Given the description of an element on the screen output the (x, y) to click on. 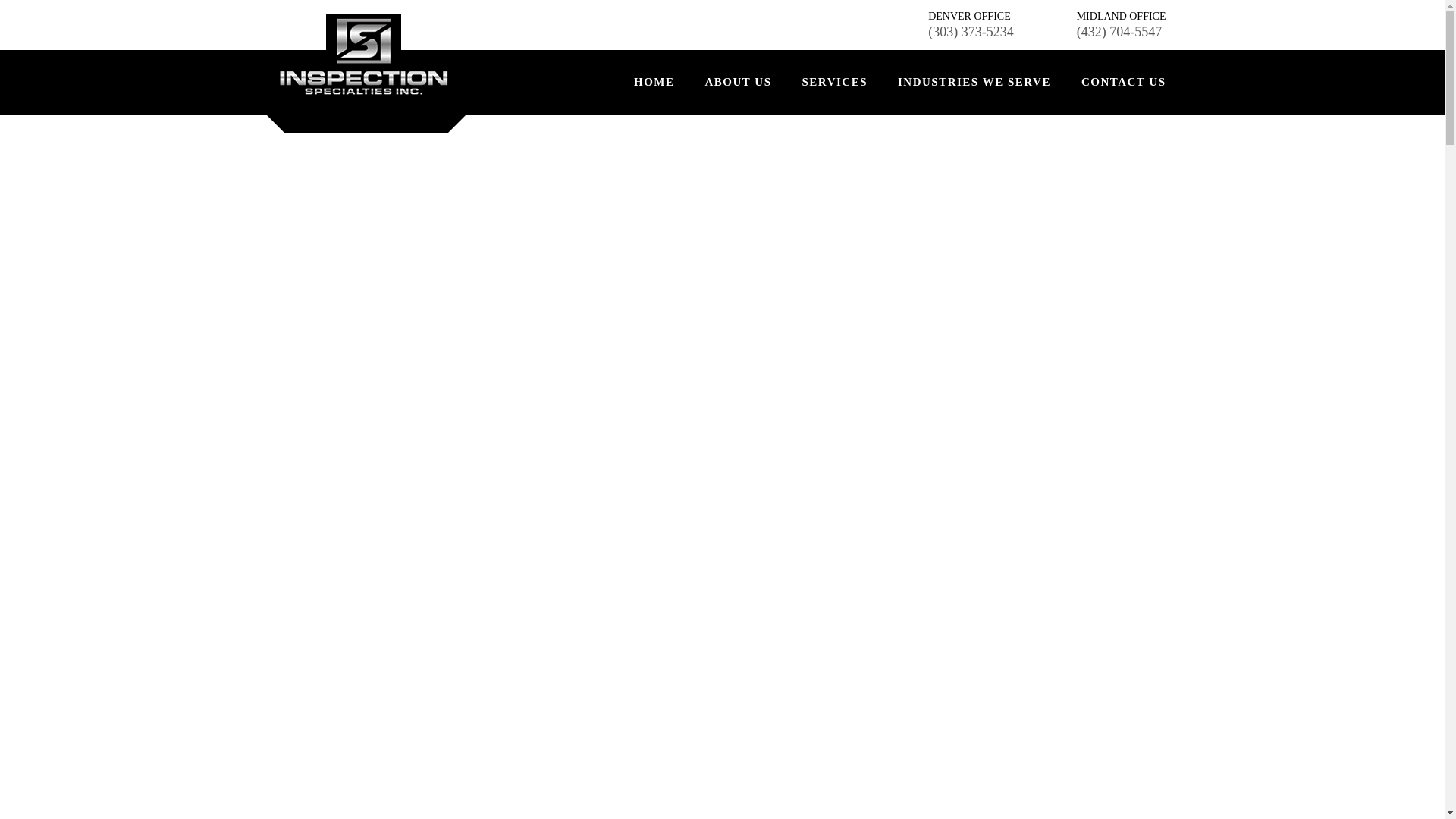
CONTACT US (1115, 81)
HOME (654, 81)
SERVICES (834, 81)
INDUSTRIES WE SERVE (973, 81)
Inspection Specialties Inc (363, 54)
ABOUT US (737, 81)
